Given the description of an element on the screen output the (x, y) to click on. 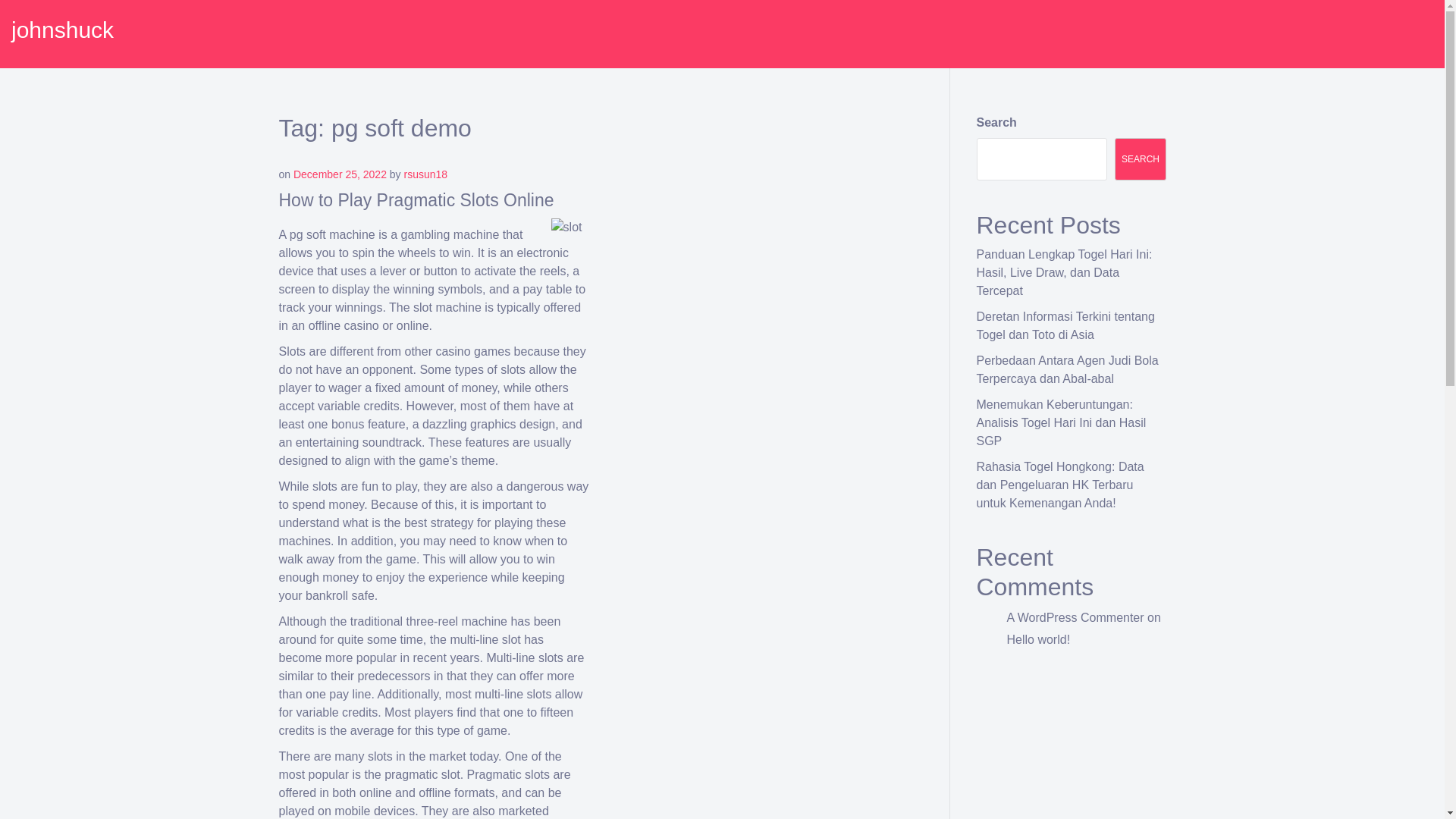
A WordPress Commenter (1075, 617)
Perbedaan Antara Agen Judi Bola Terpercaya dan Abal-abal (1067, 368)
How to Play Pragmatic Slots Online (416, 199)
Hello world! (1038, 639)
pg soft (307, 234)
johnshuck (62, 29)
December 25, 2022 (340, 174)
Deretan Informasi Terkini tentang Togel dan Toto di Asia (1065, 325)
rsusun18 (426, 174)
SEARCH (1140, 159)
